Given the description of an element on the screen output the (x, y) to click on. 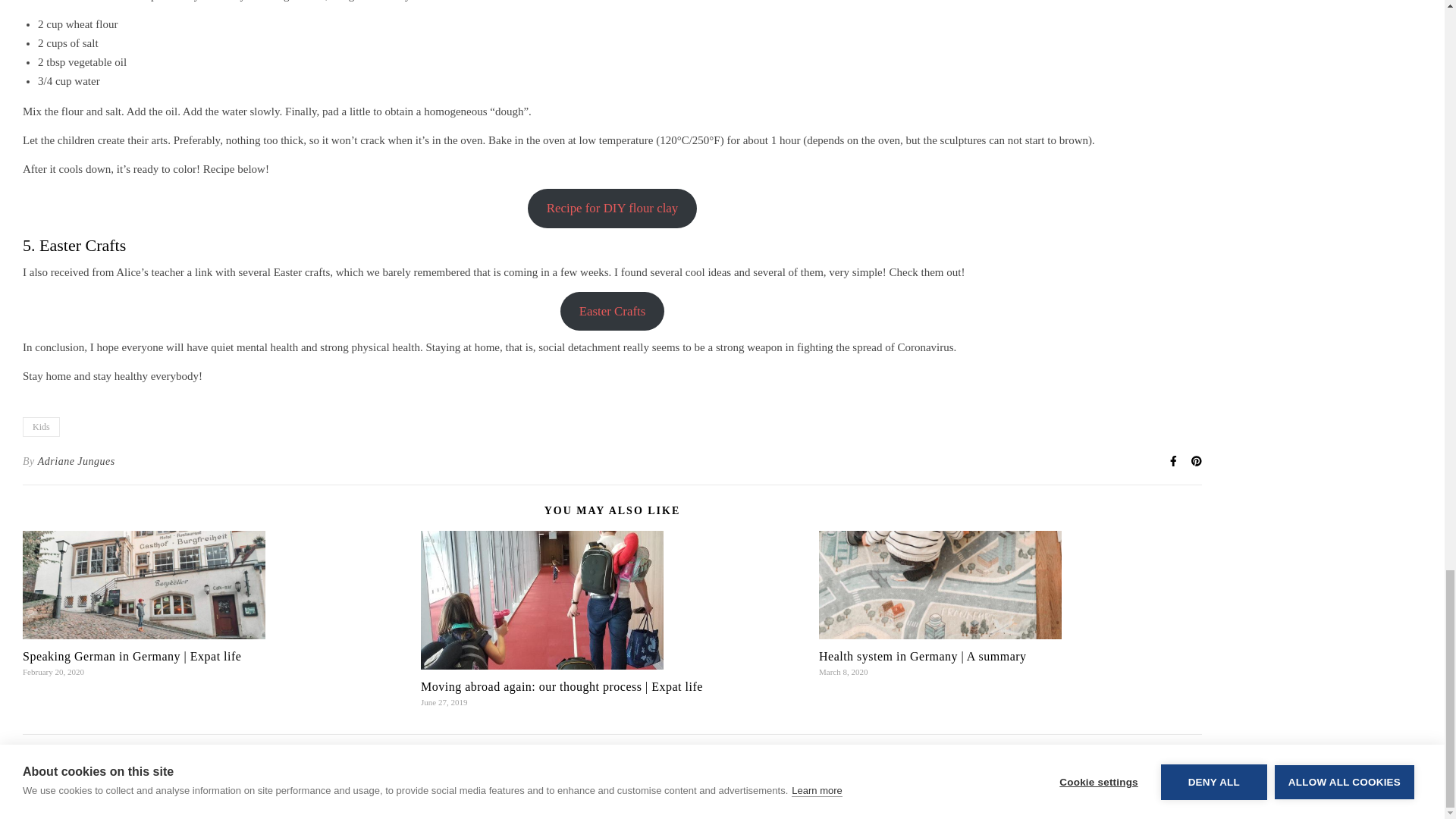
Posts by Adriane Jungues (76, 461)
